Given the description of an element on the screen output the (x, y) to click on. 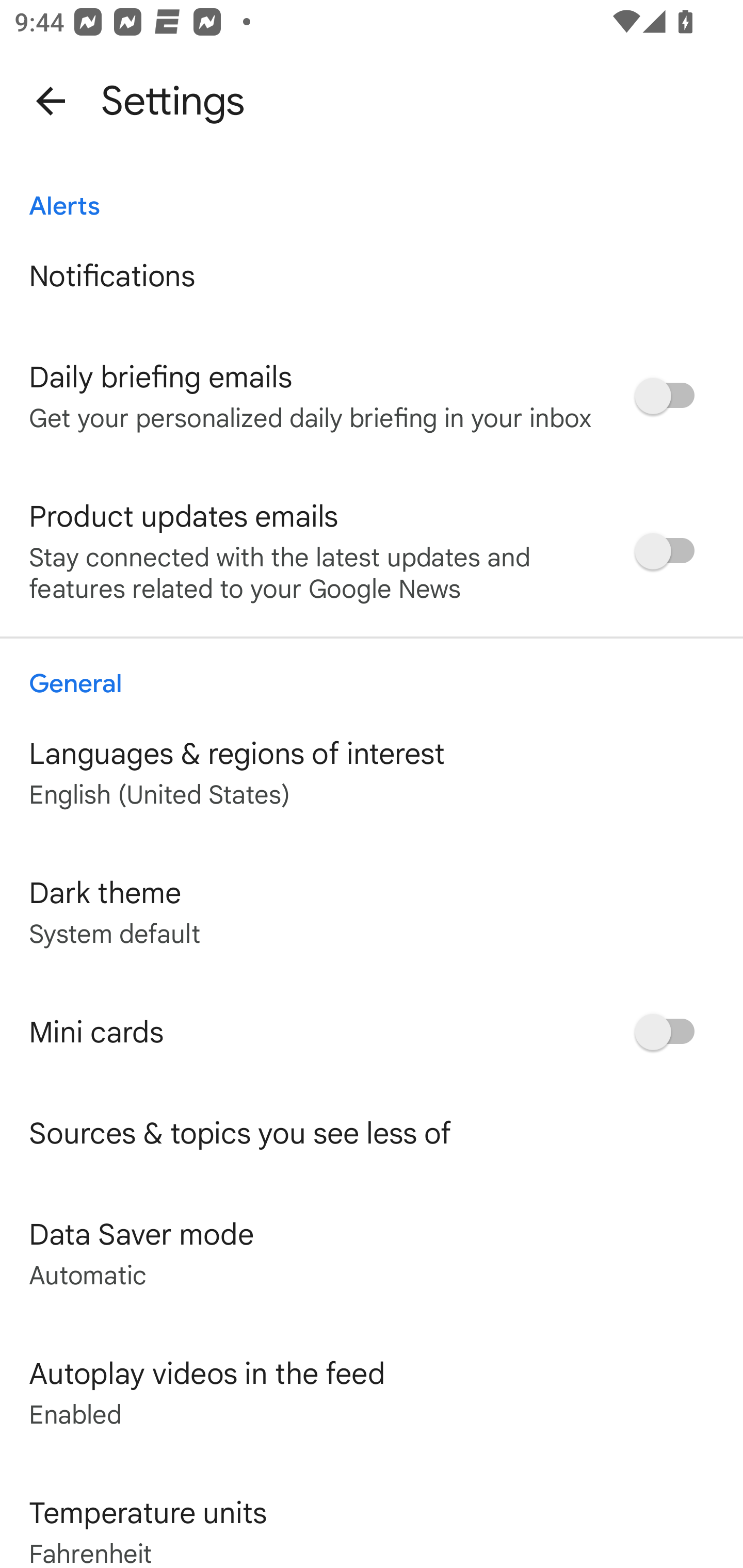
Navigate up (50, 101)
Notifications (371, 275)
Dark theme System default (371, 911)
Mini cards (371, 1031)
Sources & topics you see less of (371, 1132)
Data Saver mode Automatic (371, 1253)
Autoplay videos in the feed Enabled (371, 1392)
Temperature units Fahrenheit (371, 1515)
